Given the description of an element on the screen output the (x, y) to click on. 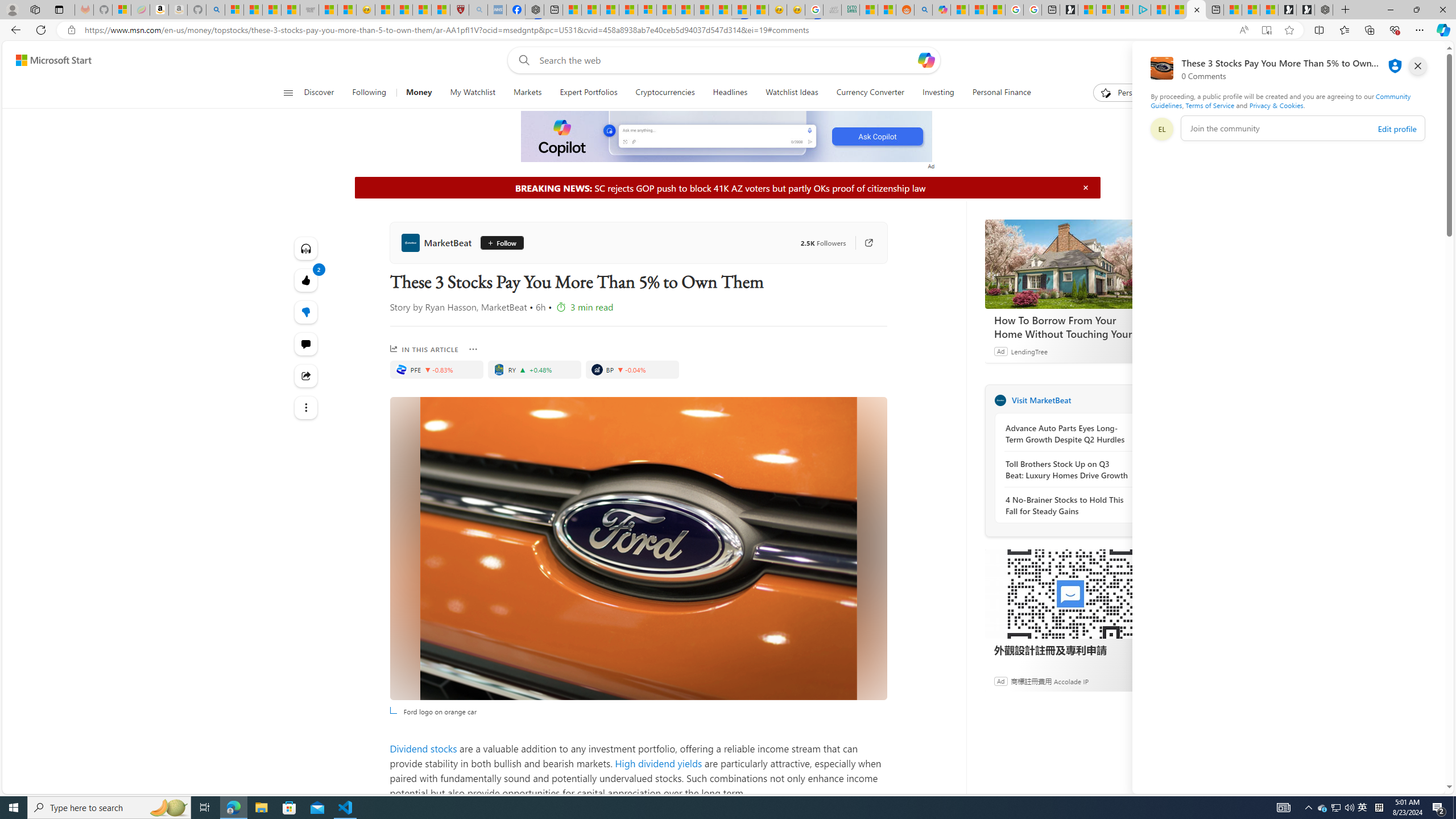
Price decrease (620, 369)
PFIZER INC. (400, 369)
Cryptocurrencies (665, 92)
